Given the description of an element on the screen output the (x, y) to click on. 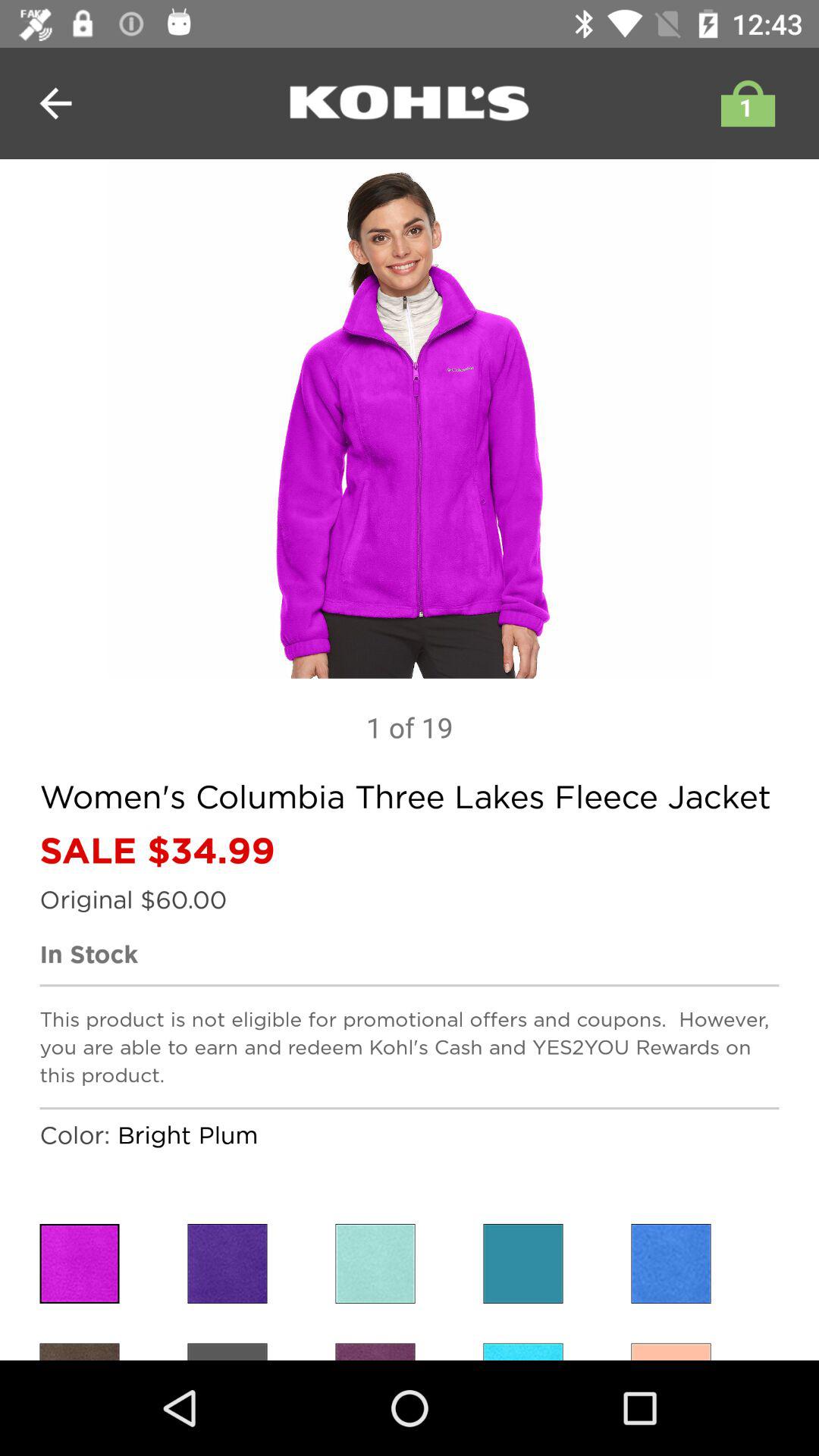
choose purple color (375, 1351)
